Given the description of an element on the screen output the (x, y) to click on. 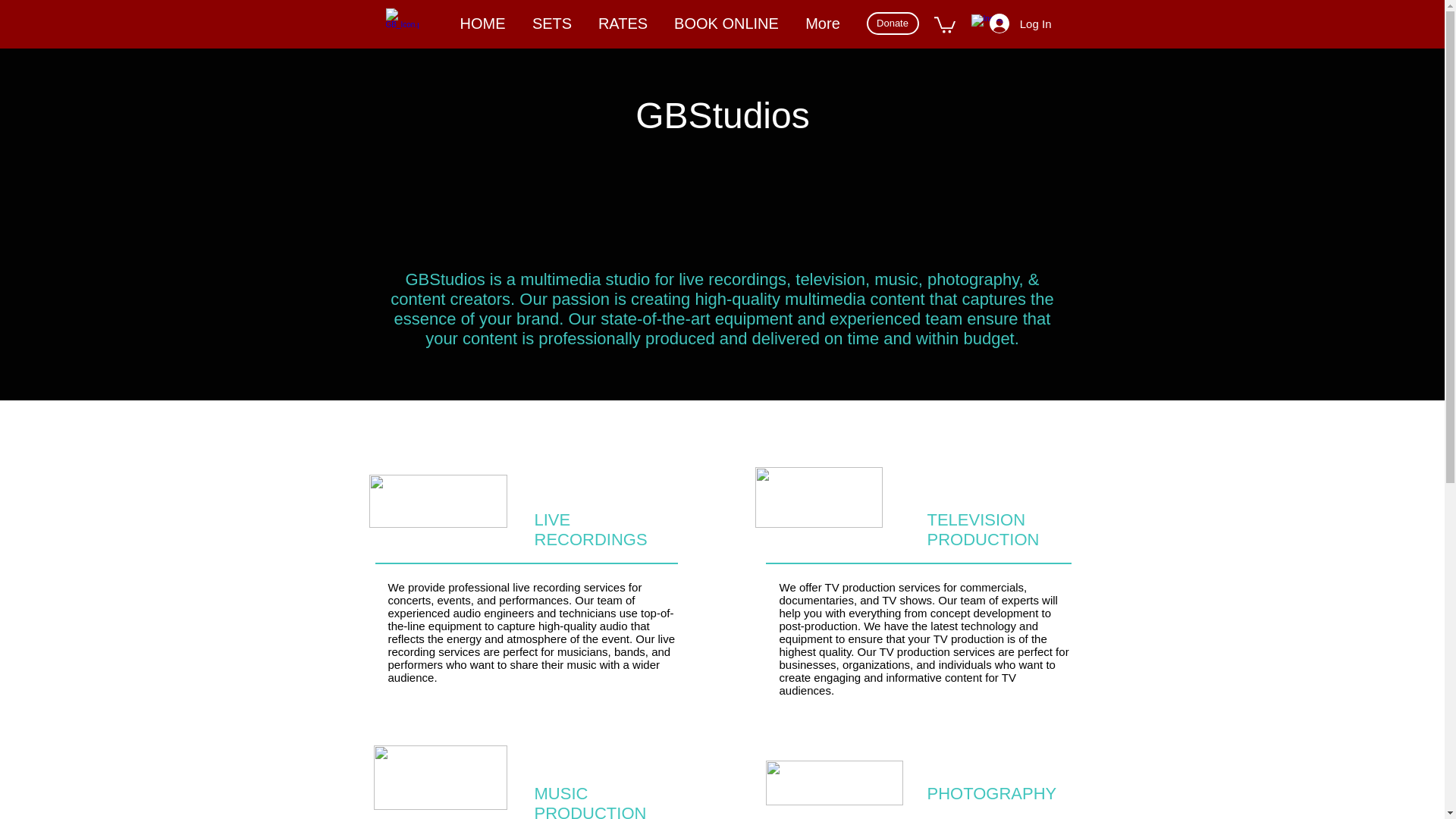
Donate (892, 23)
HOME (481, 23)
BOOK ONLINE (726, 23)
SETS (551, 23)
RATES (623, 23)
Log In (1020, 23)
